Given the description of an element on the screen output the (x, y) to click on. 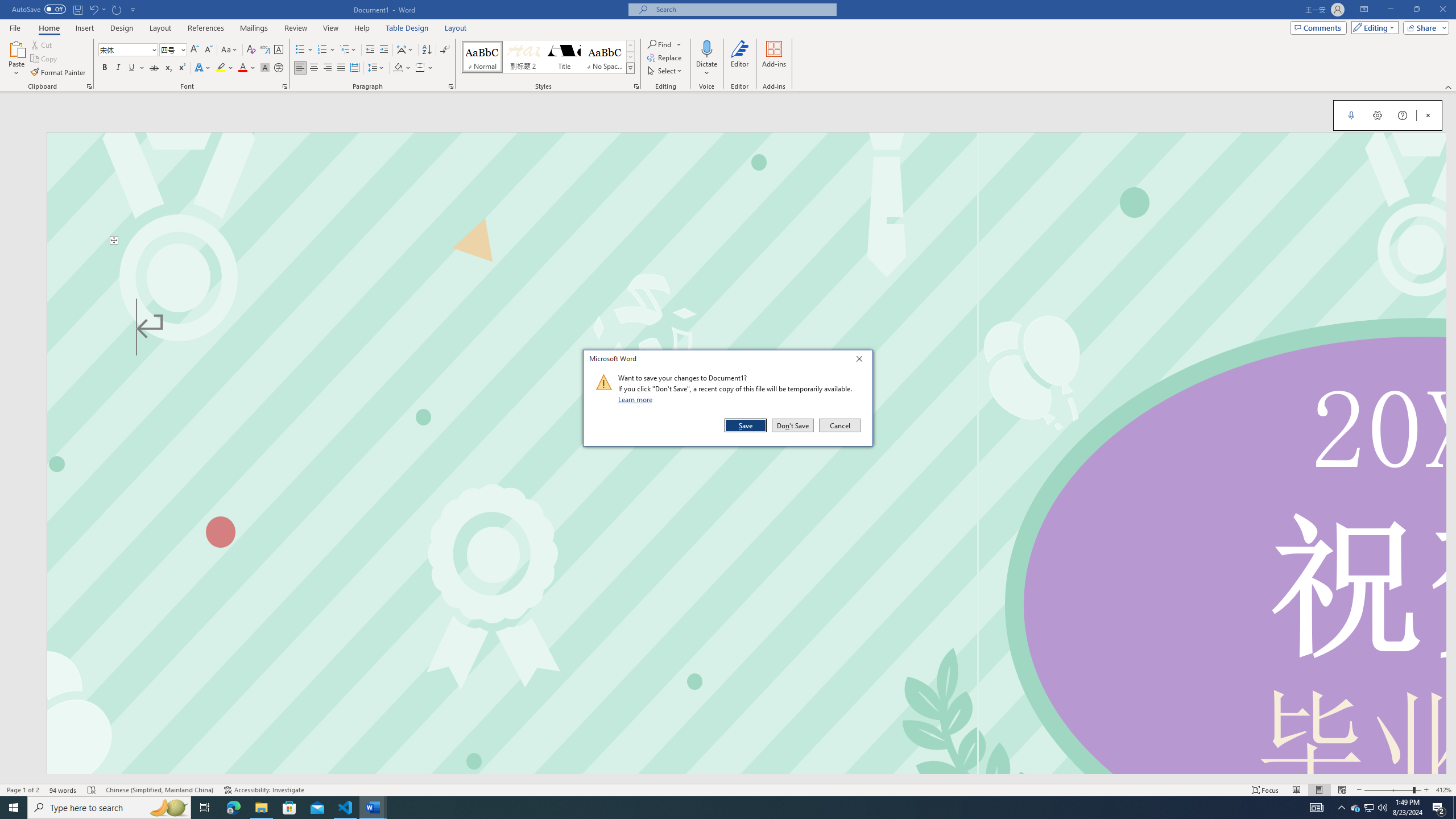
Running applications (717, 807)
Start Dictation (1350, 115)
AutomationID: QuickStylesGallery (548, 56)
